Given the description of an element on the screen output the (x, y) to click on. 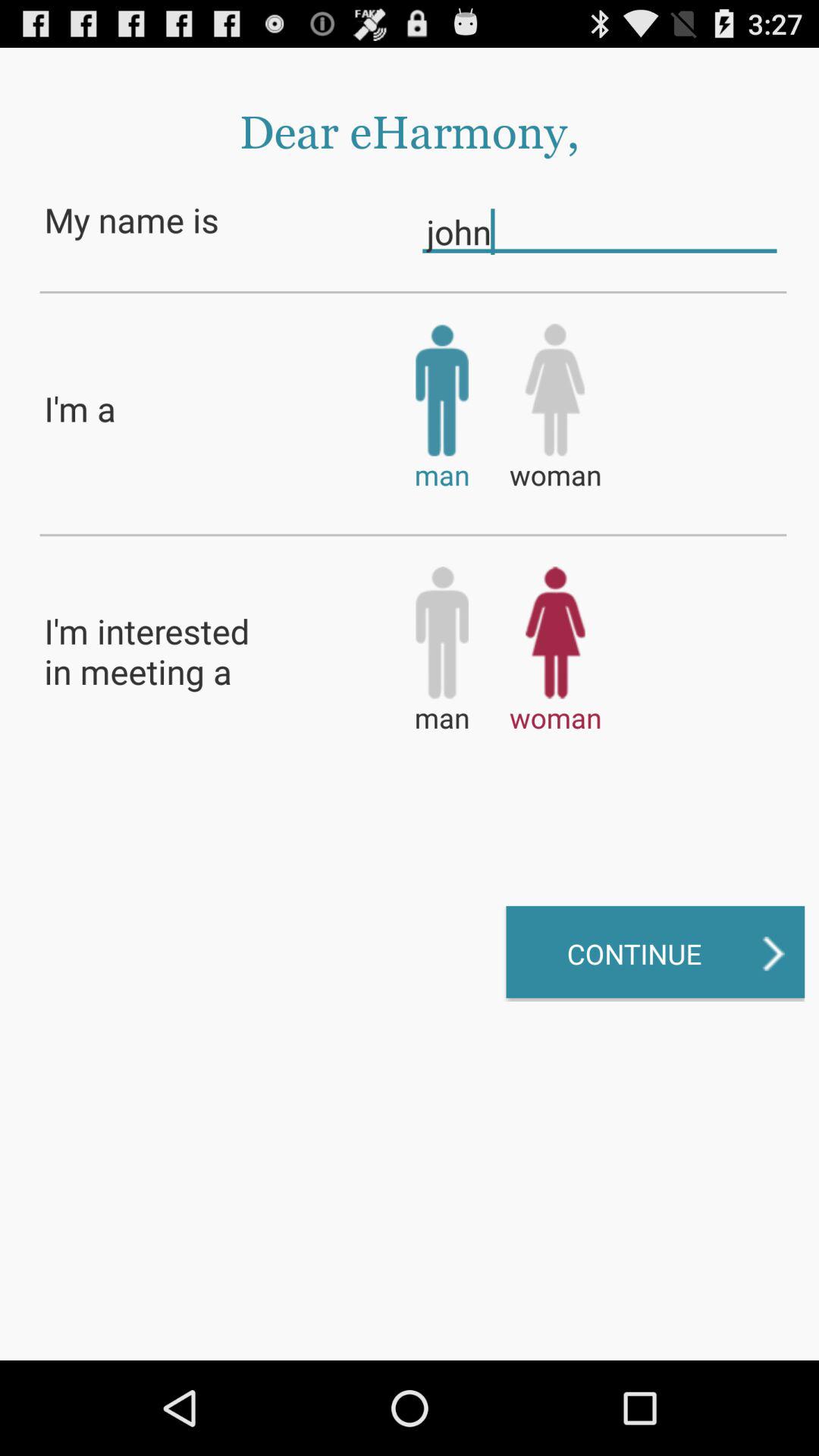
turn on the item below the dear eharmony, item (599, 231)
